Given the description of an element on the screen output the (x, y) to click on. 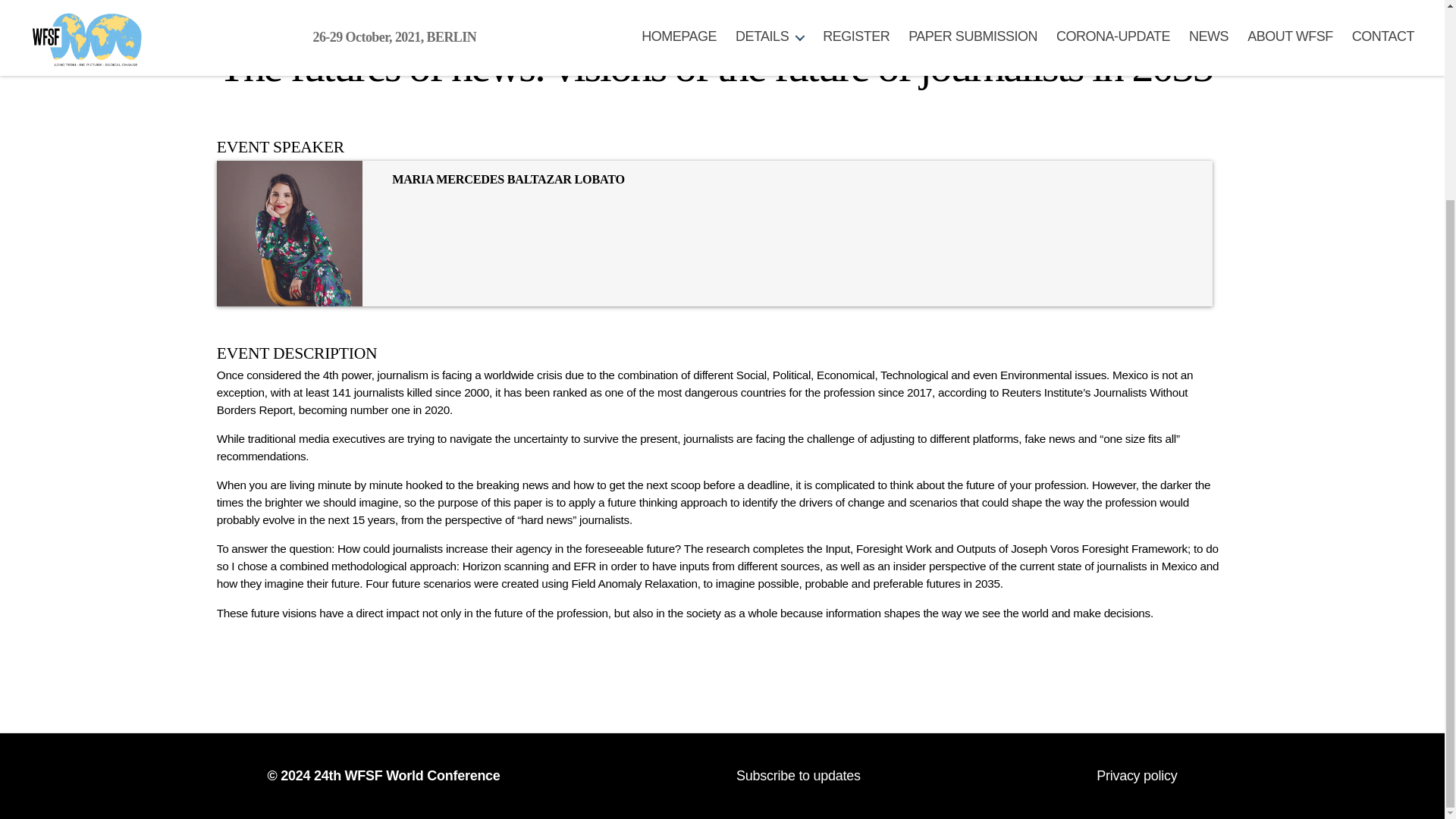
MARIA MERCEDES BALTAZAR LOBATO (507, 179)
24th WFSF World Conference (407, 775)
